Given the description of an element on the screen output the (x, y) to click on. 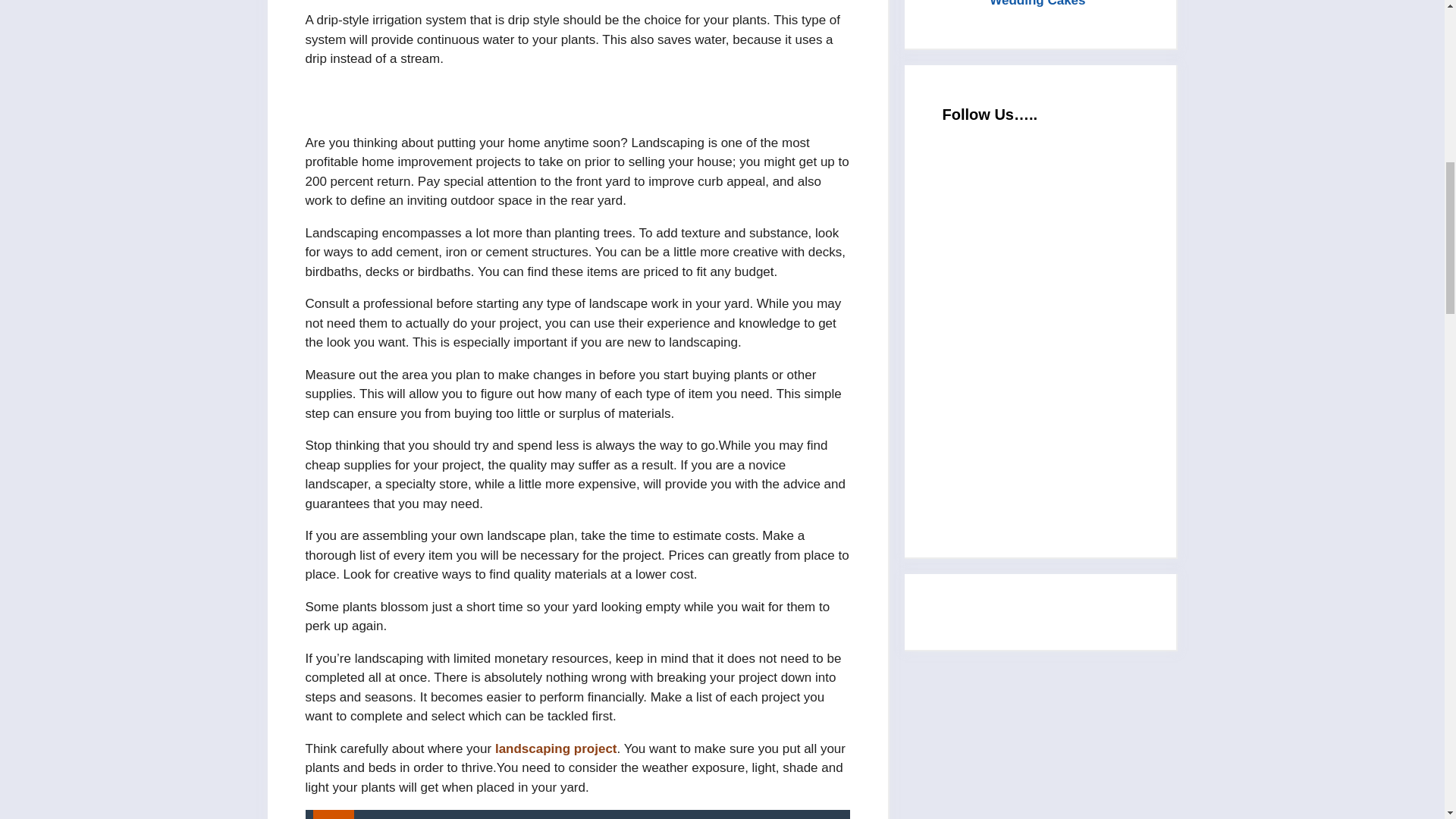
Pinterest (1055, 457)
Facebook (1055, 331)
Email (1055, 205)
